Given the description of an element on the screen output the (x, y) to click on. 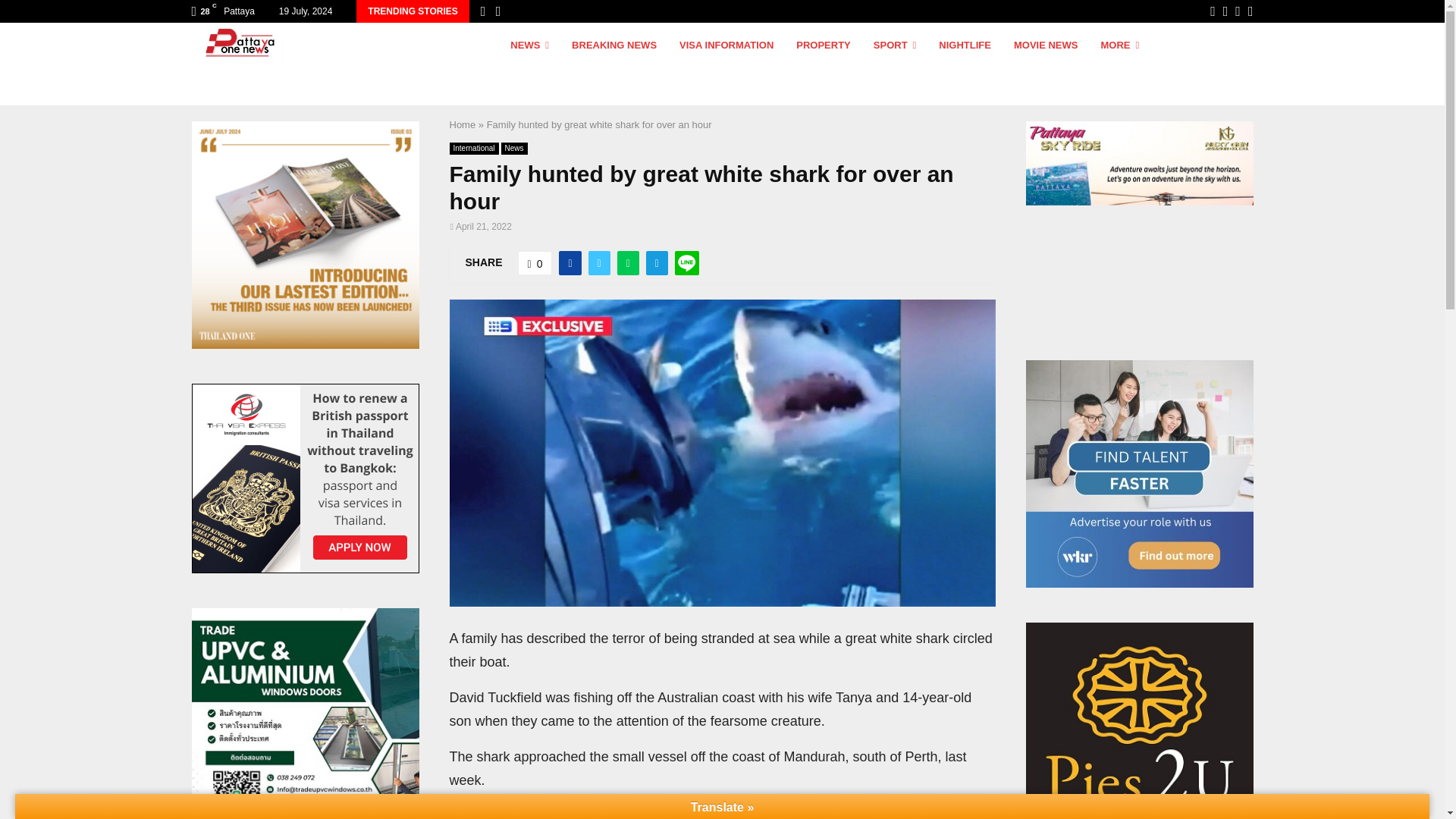
BREAKING NEWS (614, 64)
VISA INFORMATION (726, 64)
Like (535, 262)
